Given the description of an element on the screen output the (x, y) to click on. 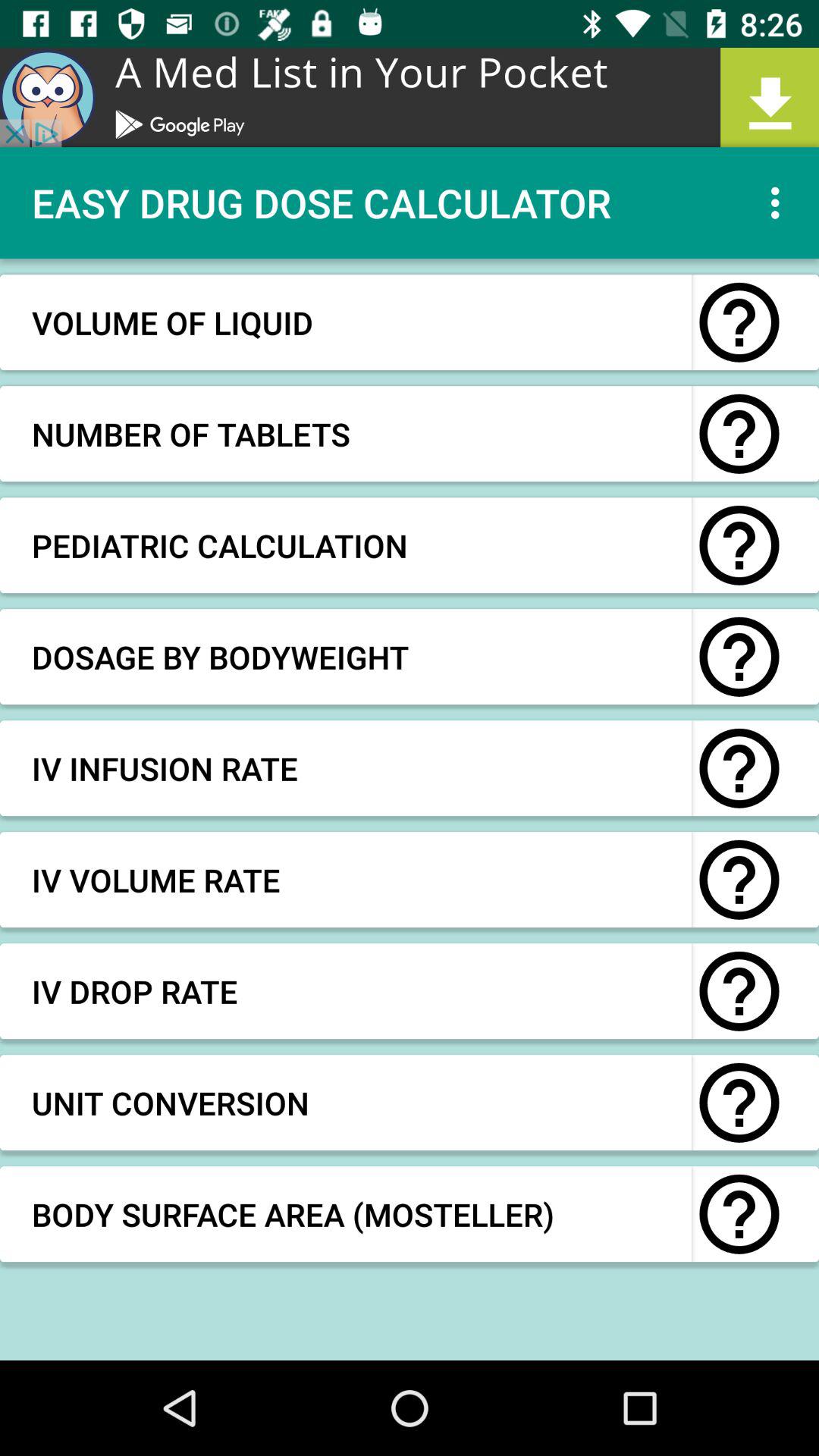
show information (739, 656)
